Given the description of an element on the screen output the (x, y) to click on. 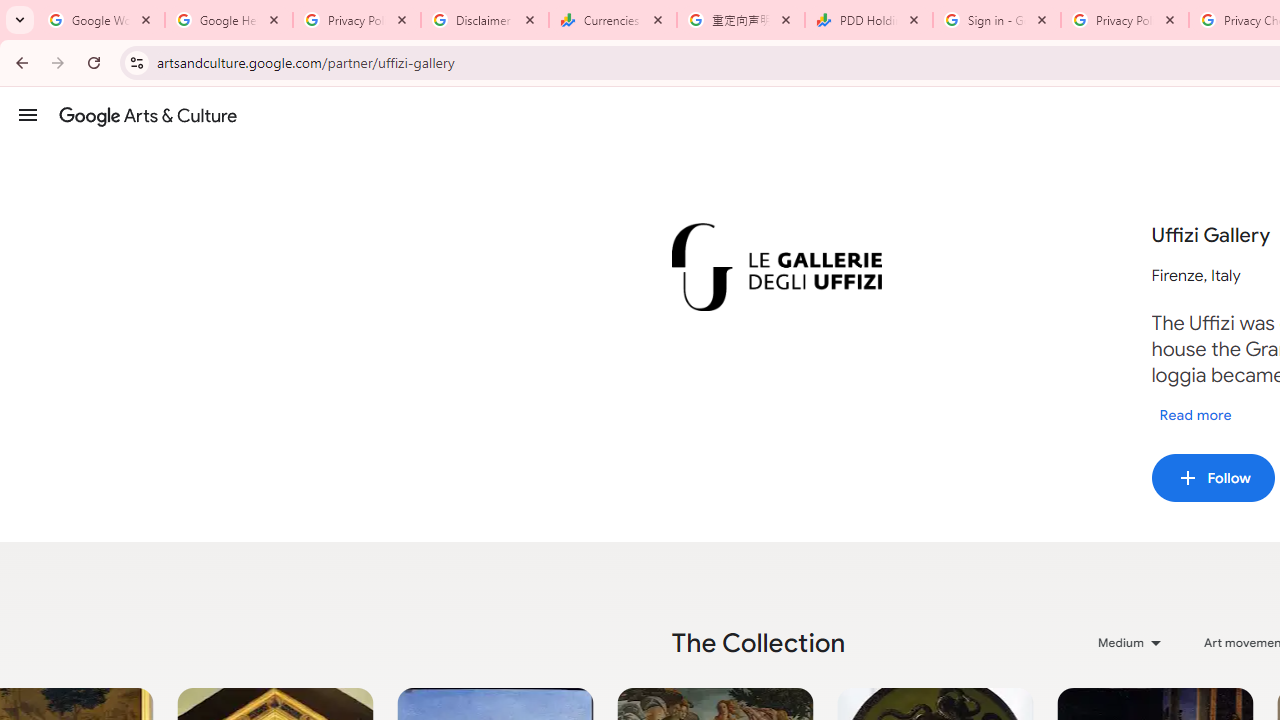
Read more (1195, 414)
Google Workspace Admin Community (101, 20)
Medium (1131, 642)
Sign in - Google Accounts (997, 20)
Currencies - Google Finance (613, 20)
